Given the description of an element on the screen output the (x, y) to click on. 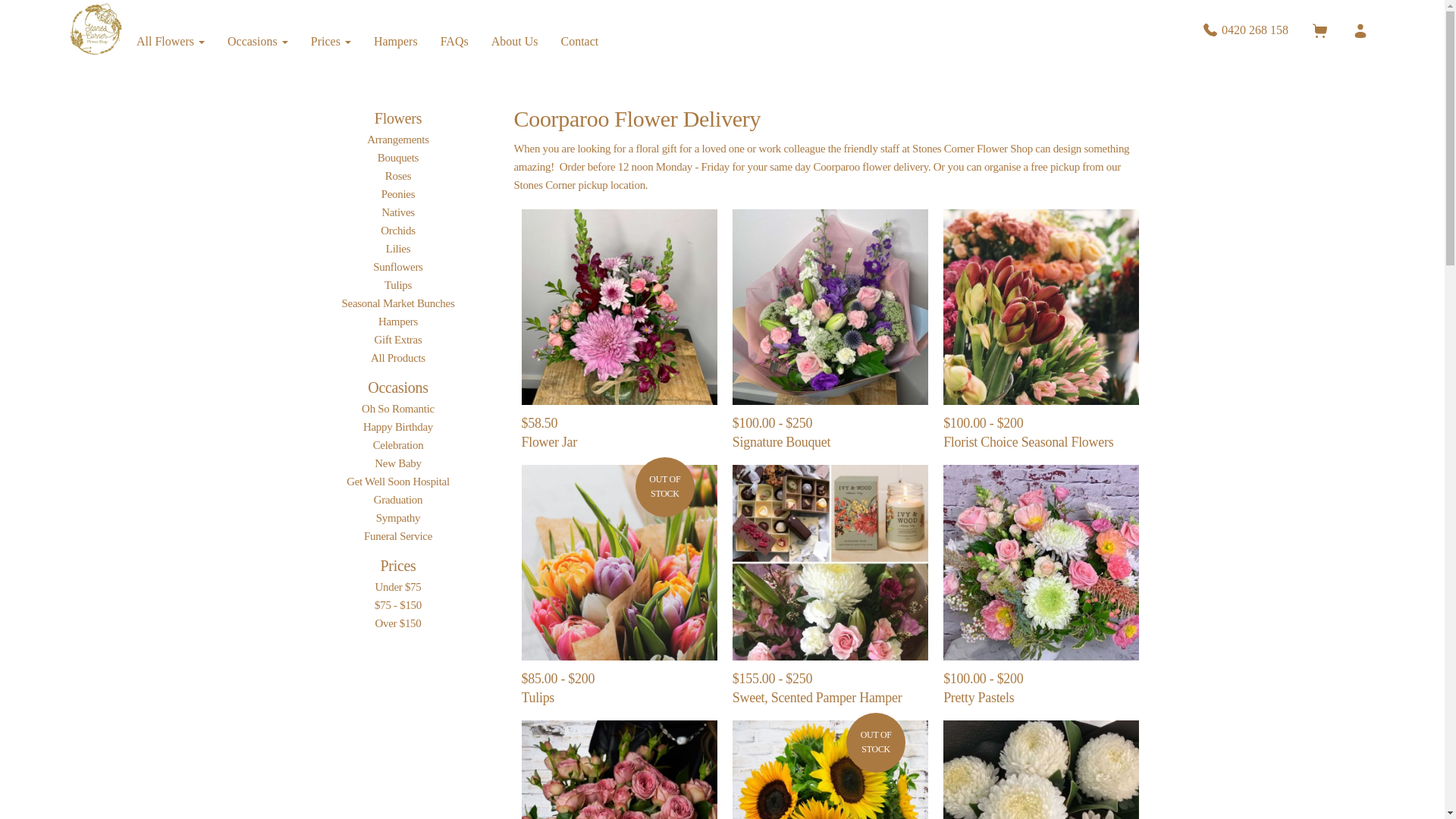
Arrangements (397, 139)
FAQs (454, 41)
Occasions (257, 41)
0420 268 158 (1244, 30)
Hampers (395, 41)
All Flowers (170, 41)
Contact (579, 41)
About Us (515, 41)
Flowers (398, 117)
Prices (330, 41)
